Given the description of an element on the screen output the (x, y) to click on. 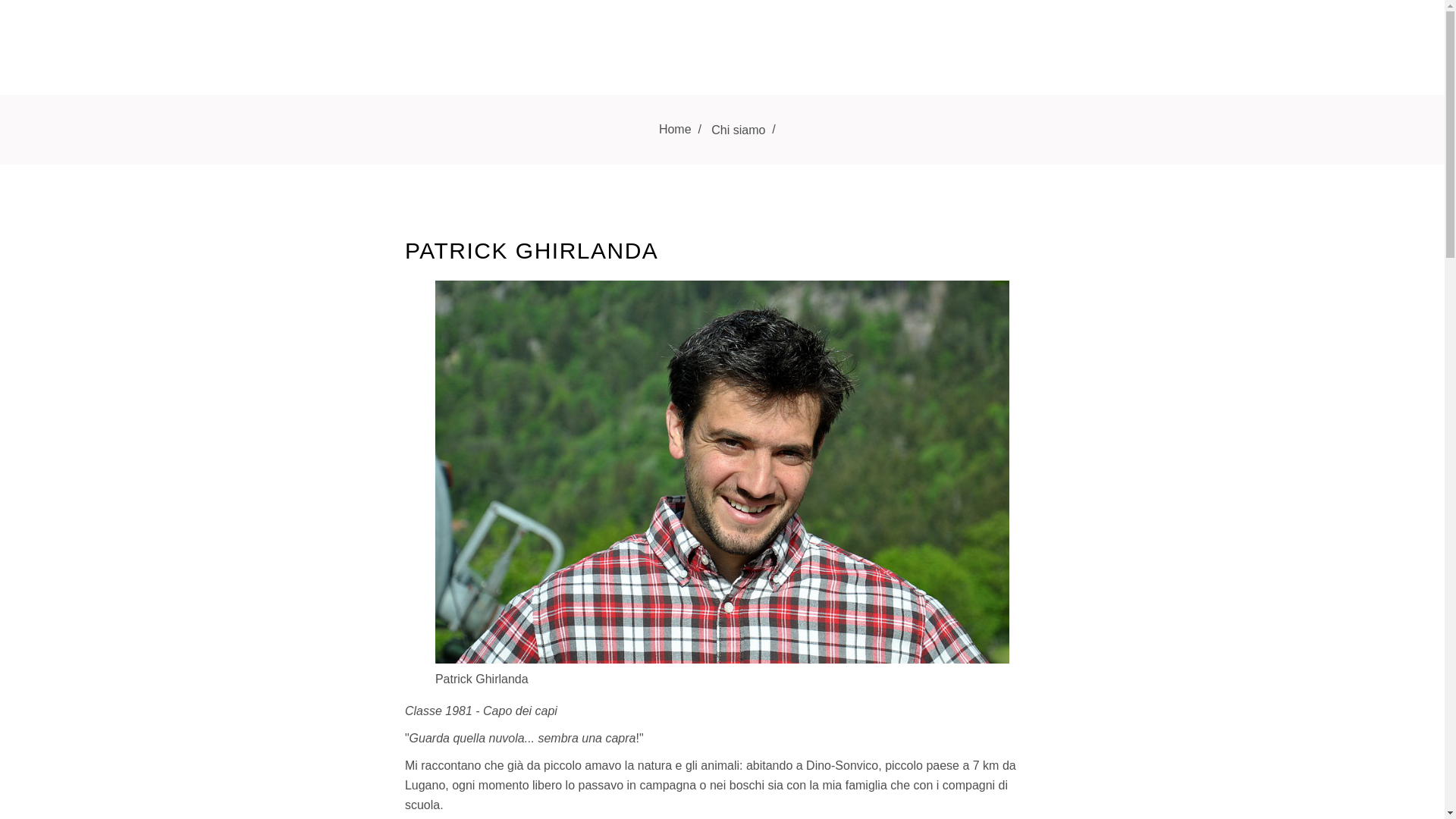
Home Element type: text (674, 129)
Chi siamo Element type: text (738, 130)
